Given the description of an element on the screen output the (x, y) to click on. 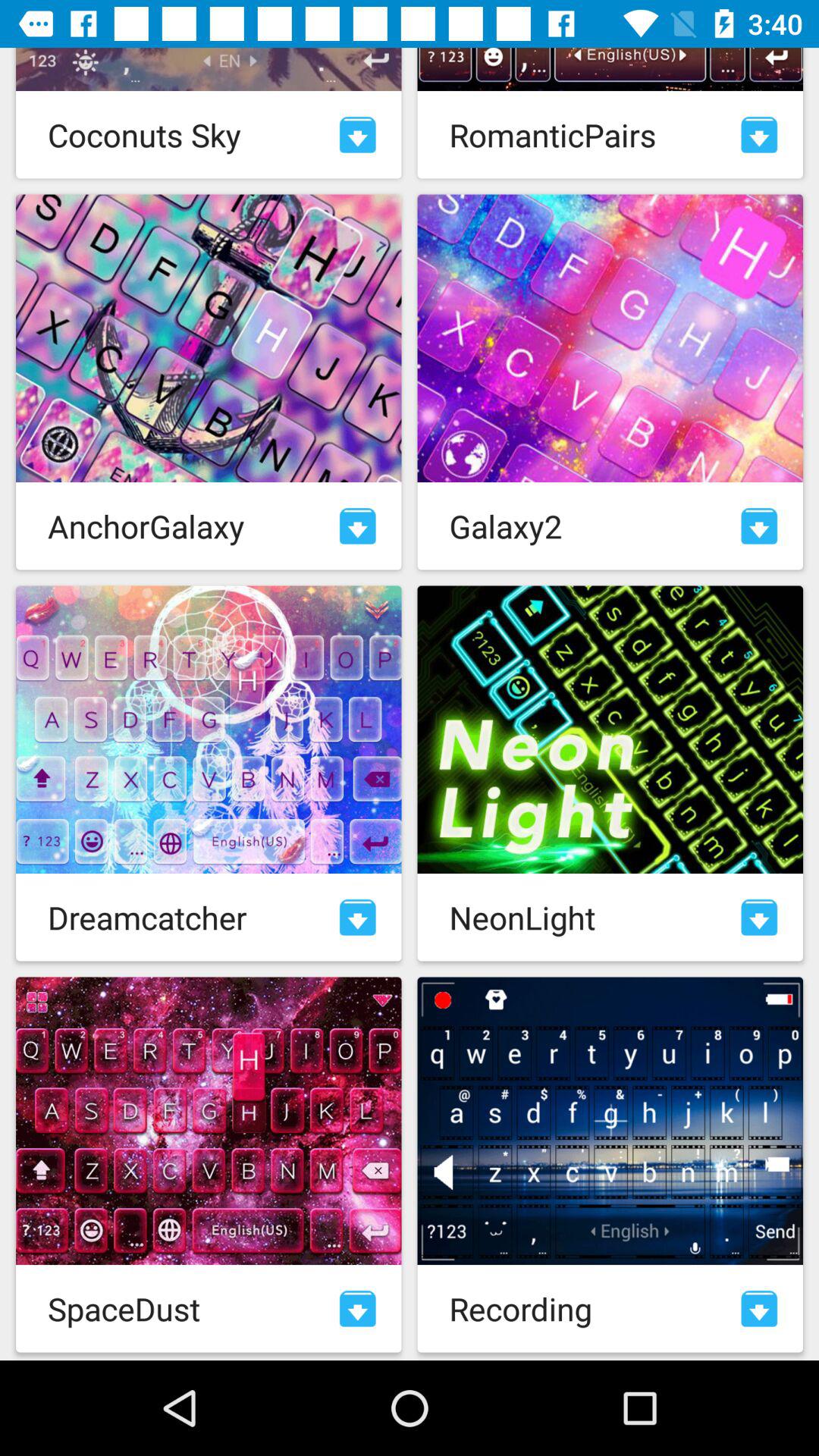
download keyboard style (759, 134)
